Given the description of an element on the screen output the (x, y) to click on. 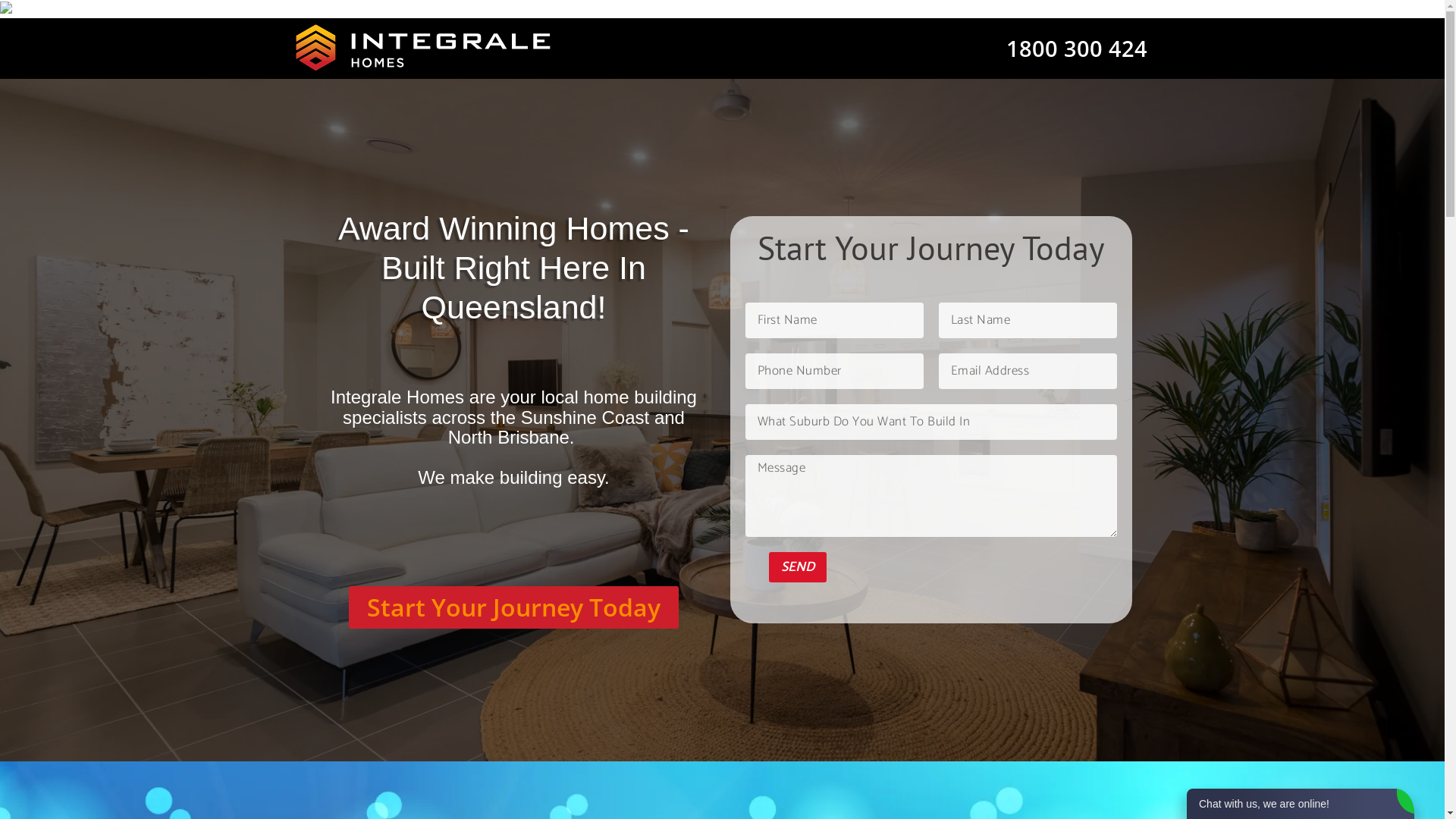
SEND Element type: text (797, 567)
Start Your Journey Today Element type: text (513, 607)
1800 300 424 Element type: text (1075, 47)
